Given the description of an element on the screen output the (x, y) to click on. 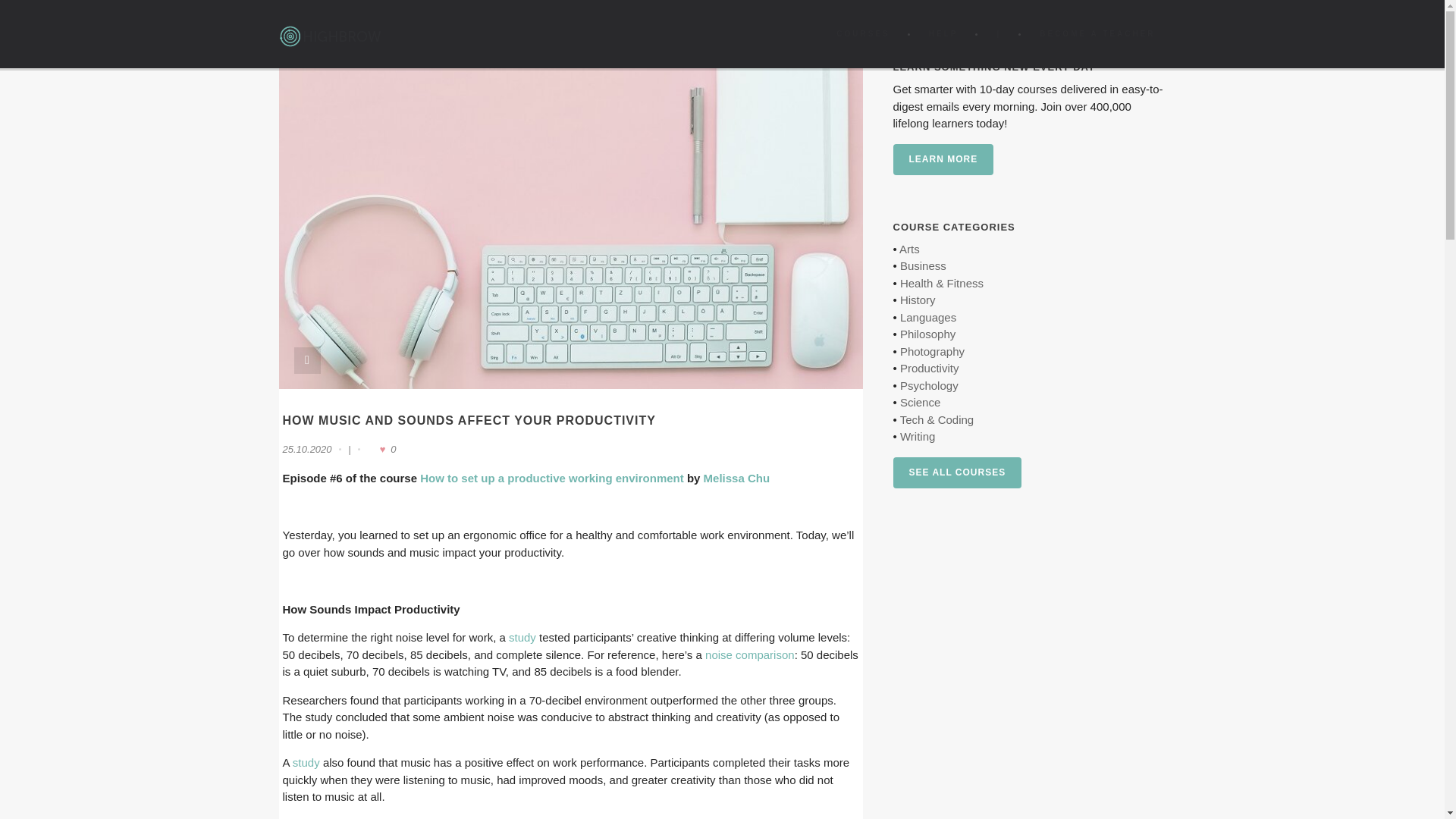
Science (919, 401)
0 (381, 449)
Melissa Chu (736, 477)
How to set up a productive working environment (552, 477)
COURSES (862, 33)
Arts (909, 248)
Photography (931, 350)
BECOME A TEACHER (1097, 33)
study (521, 636)
LEARN MORE (943, 159)
